Given the description of an element on the screen output the (x, y) to click on. 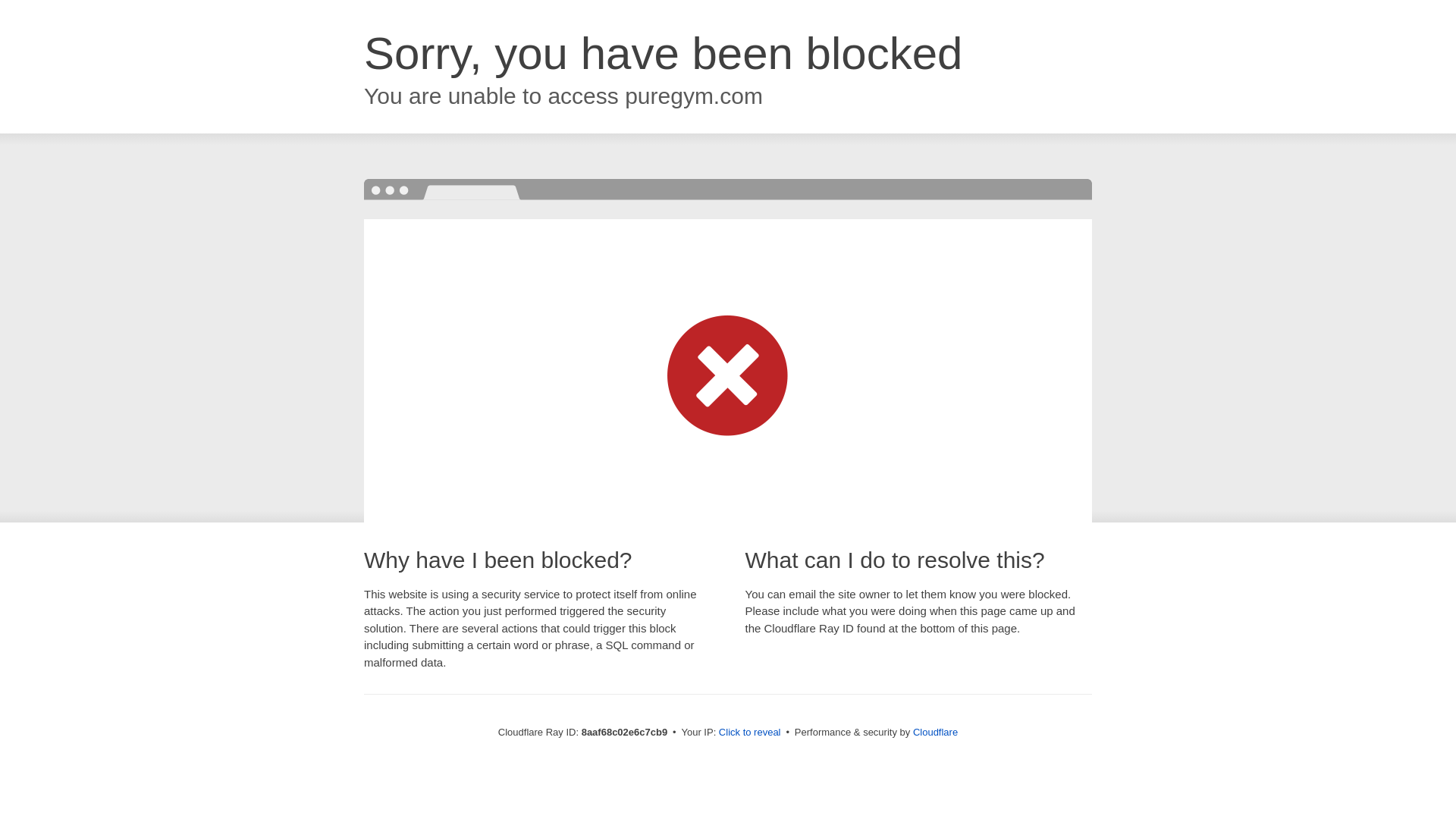
Cloudflare (935, 731)
Click to reveal (749, 732)
